Given the description of an element on the screen output the (x, y) to click on. 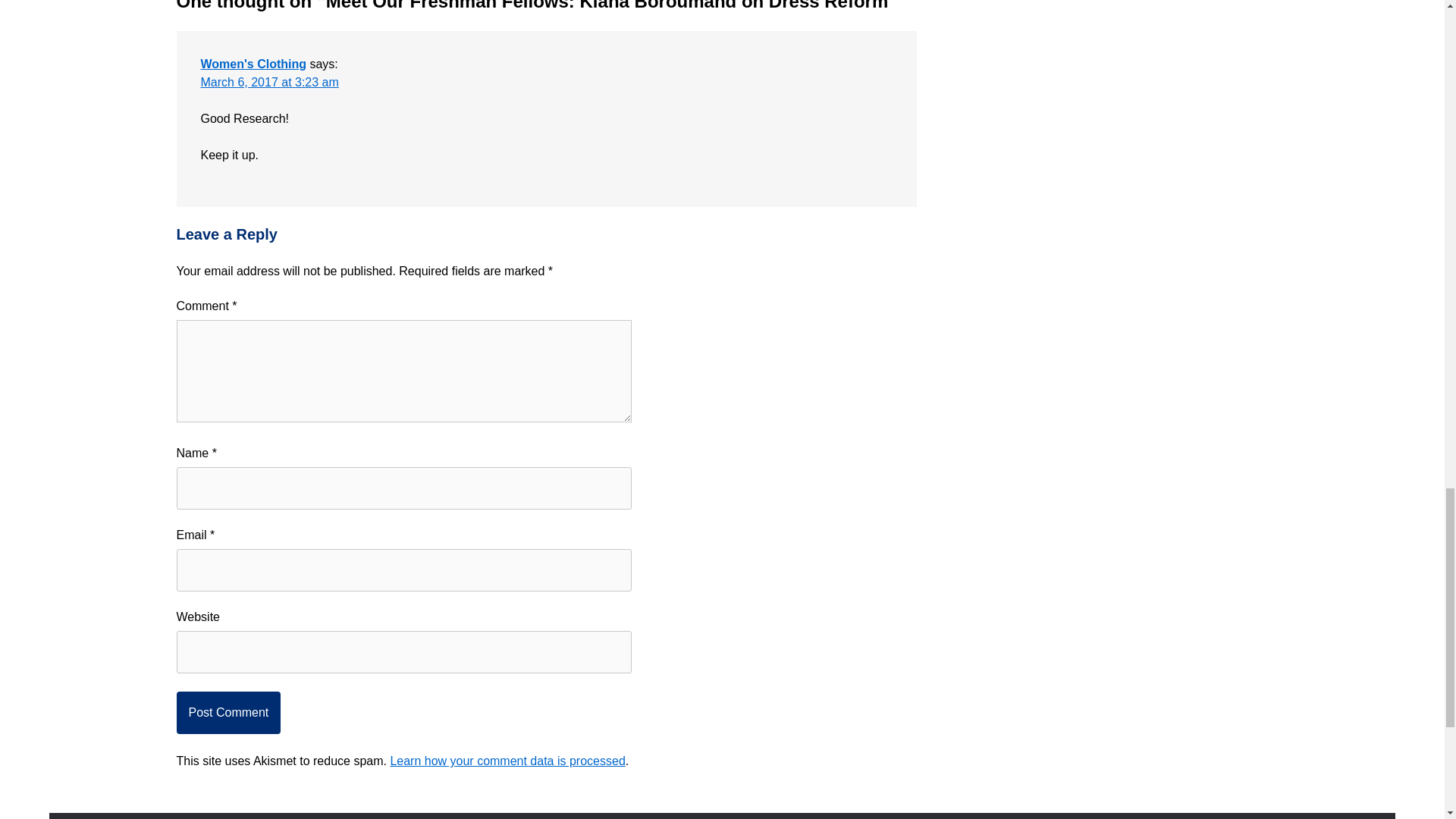
Learn how your comment data is processed (507, 760)
Post Comment (228, 712)
Women's Clothing (252, 63)
March 6, 2017 at 3:23 am (268, 82)
Post Comment (228, 712)
